Given the description of an element on the screen output the (x, y) to click on. 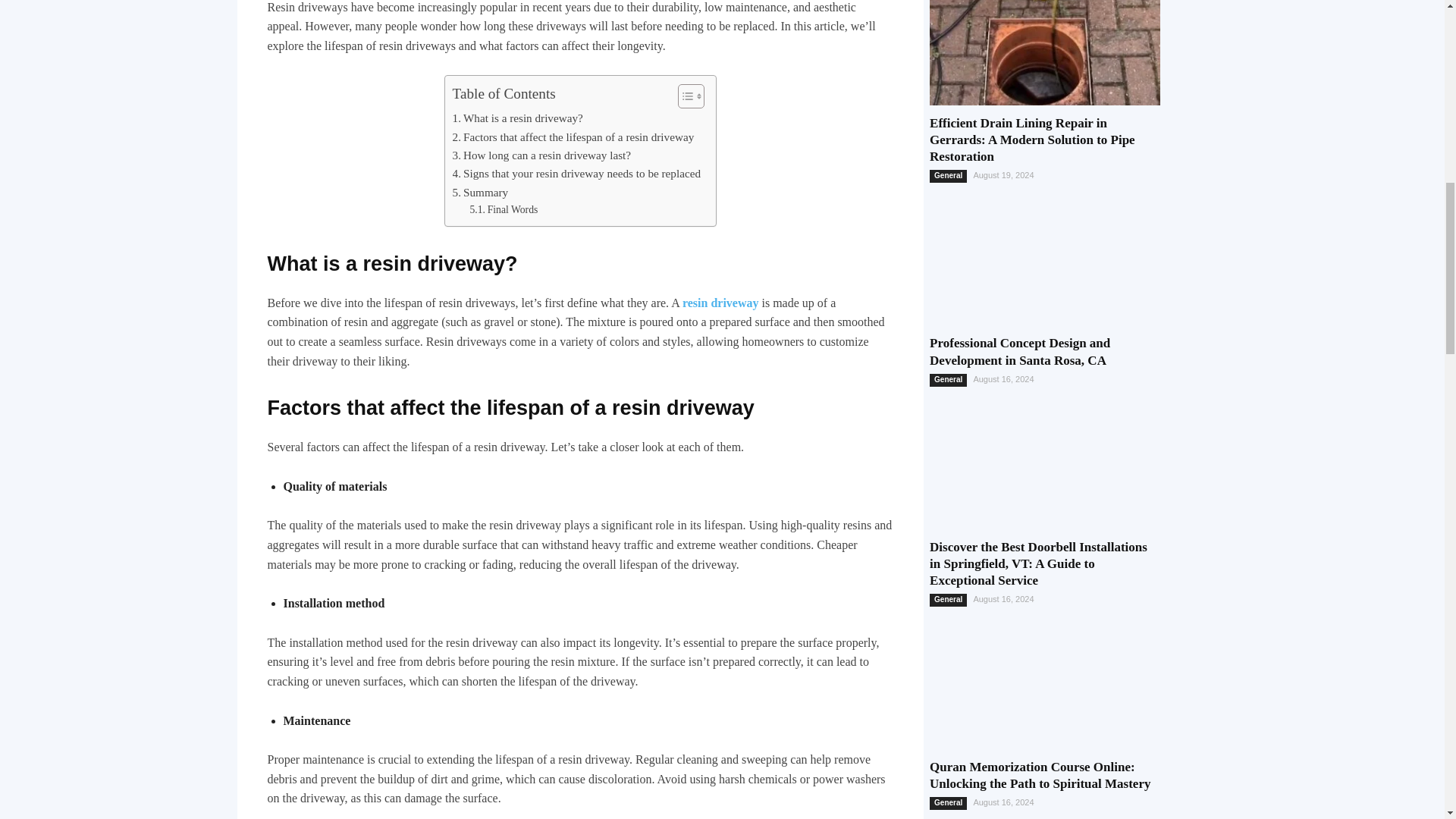
Final Words (502, 209)
What is a resin driveway? (517, 117)
How long can a resin driveway last? (541, 155)
Factors that affect the lifespan of a resin driveway (573, 136)
Summary (480, 192)
Signs that your resin driveway needs to be replaced (576, 173)
